Given the description of an element on the screen output the (x, y) to click on. 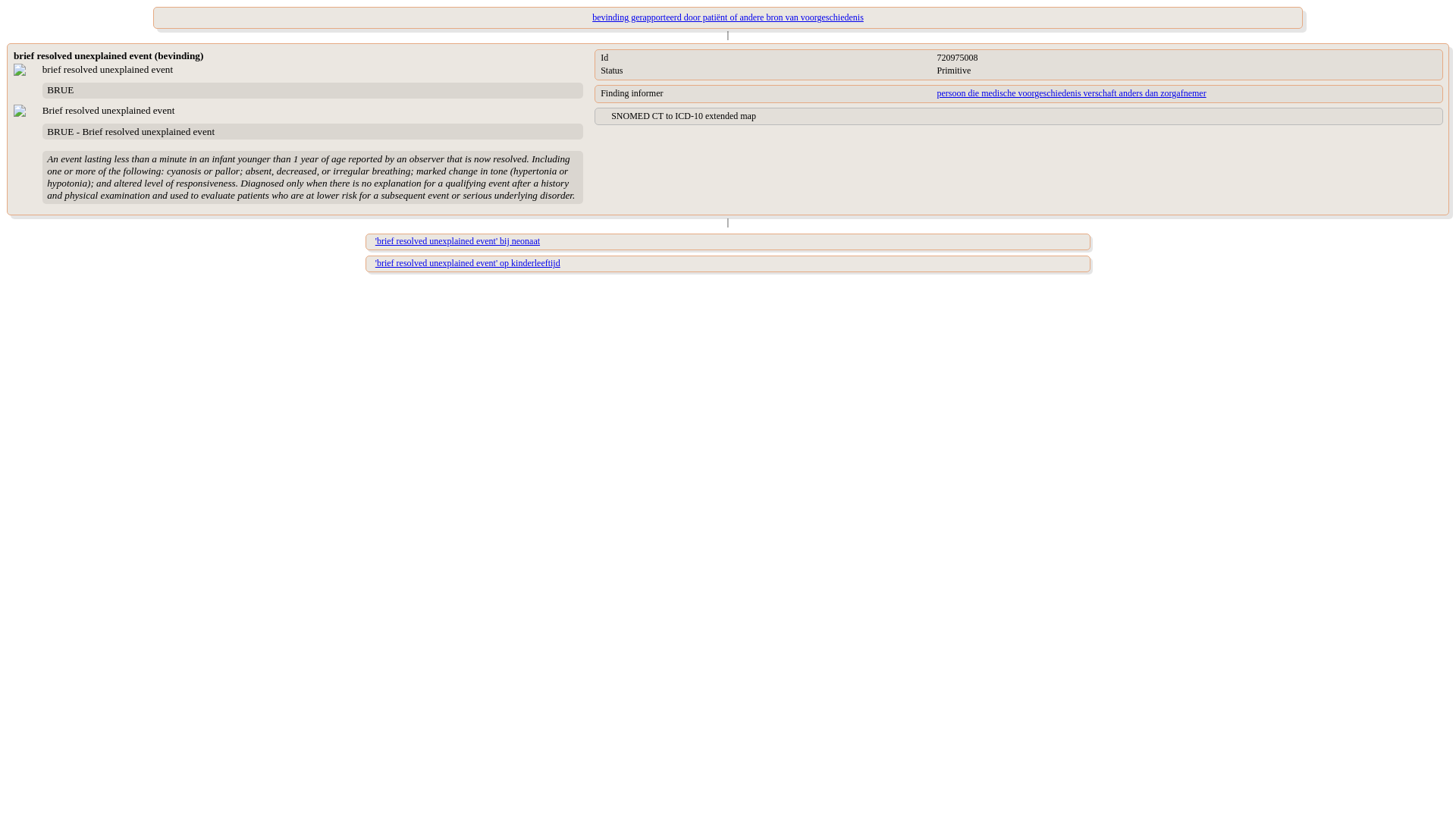
Synonyms (312, 90)
'brief resolved unexplained event' bij neonaat (457, 240)
Synonyms (312, 131)
Preferred term (312, 69)
Text definition (312, 176)
Preferred term (312, 110)
